Given the description of an element on the screen output the (x, y) to click on. 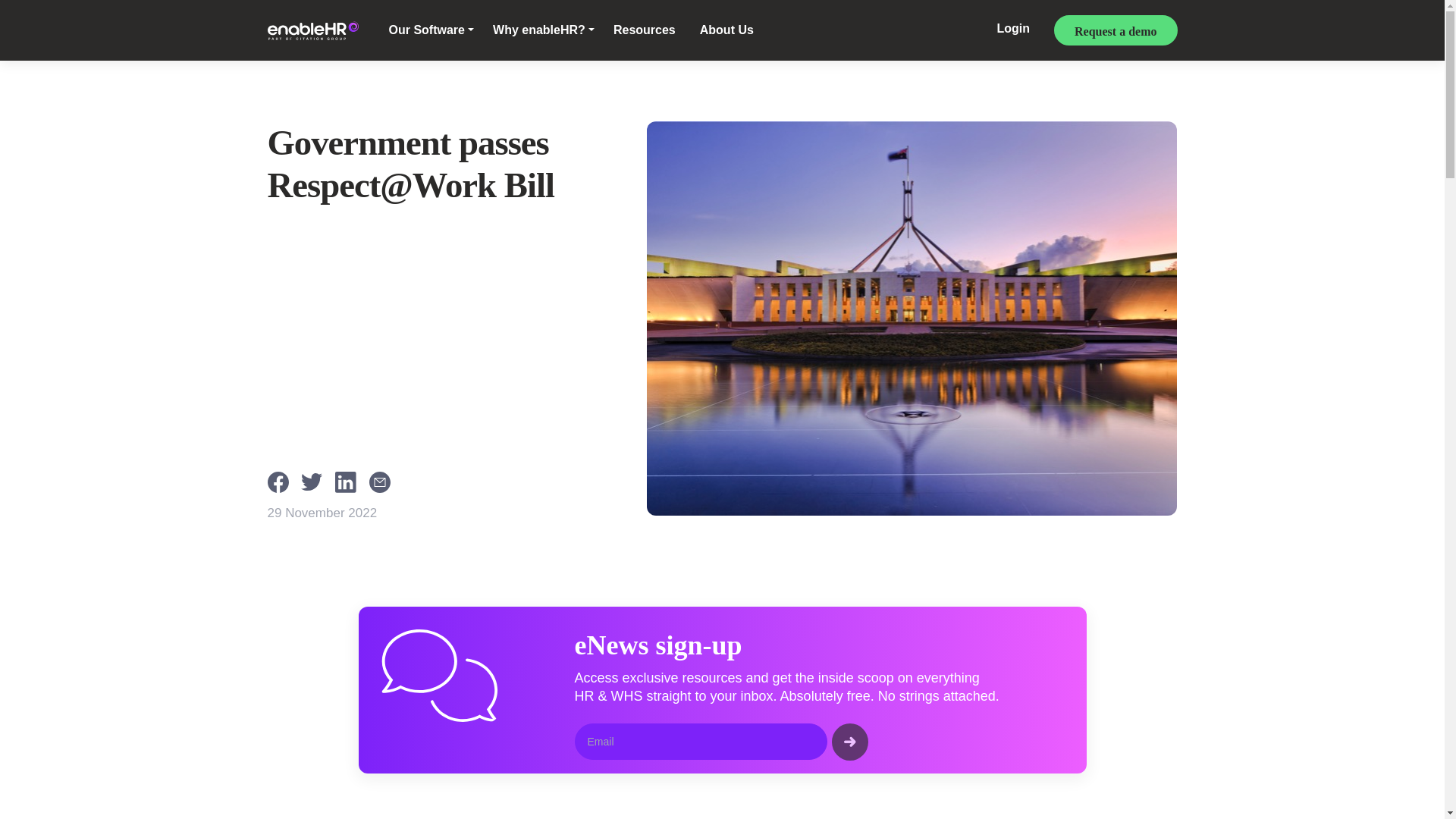
Why enableHR? (543, 29)
About Us (727, 29)
Request a demo (1115, 30)
Login (1012, 30)
Share by Email (383, 481)
Our Software (431, 29)
Resources (643, 29)
